Given the description of an element on the screen output the (x, y) to click on. 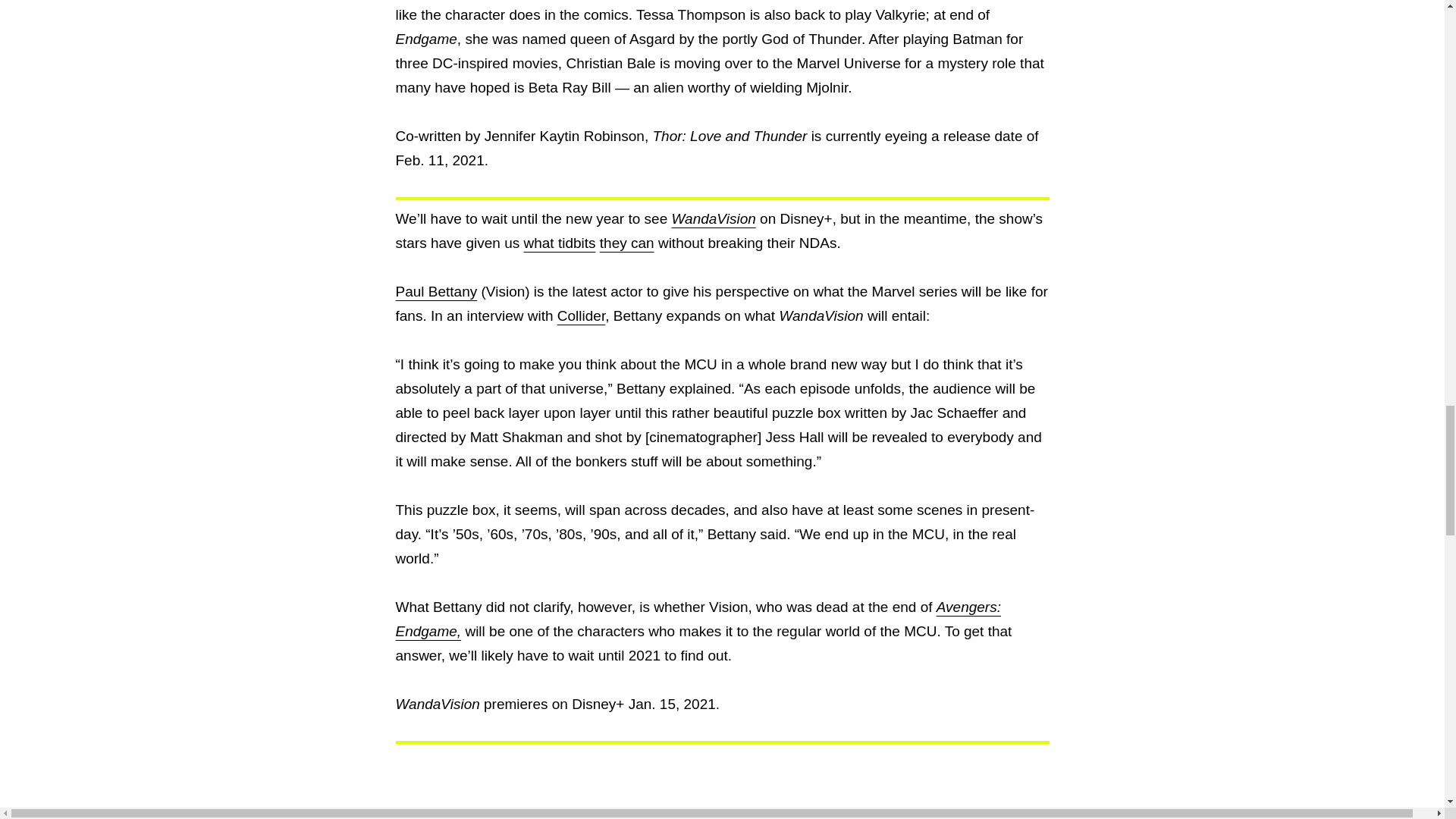
what tidbits (558, 242)
WandaVision (713, 218)
Paul Bettany (436, 291)
Avengers: Endgame, (698, 618)
Collider (581, 315)
they can (626, 242)
